Given the description of an element on the screen output the (x, y) to click on. 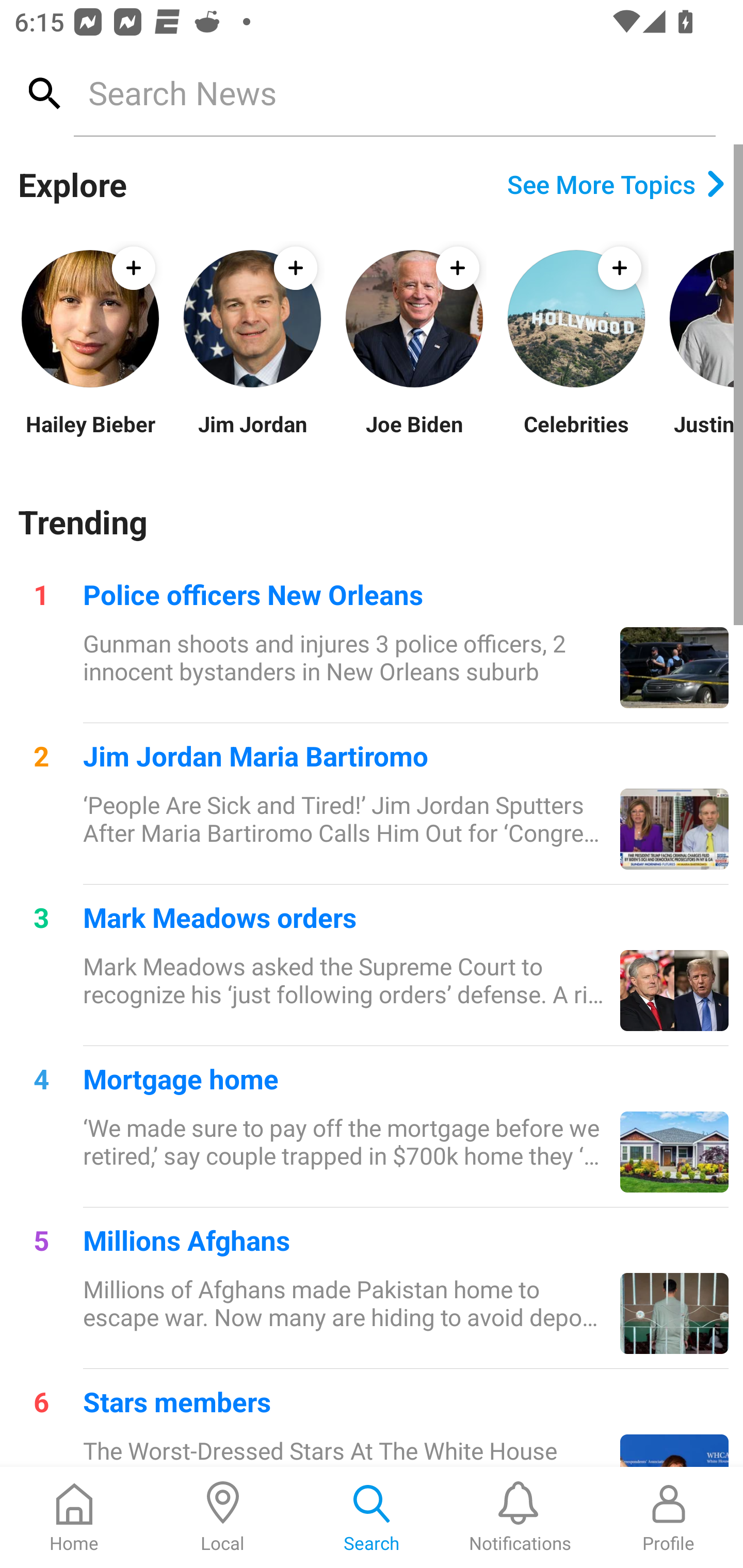
Search News (394, 92)
See More Topics (616, 183)
Hailey Bieber (89, 436)
Jim Jordan (251, 436)
Joe Biden (413, 436)
Celebrities (575, 436)
Home (74, 1517)
Local (222, 1517)
Notifications (519, 1517)
Profile (668, 1517)
